Given the description of an element on the screen output the (x, y) to click on. 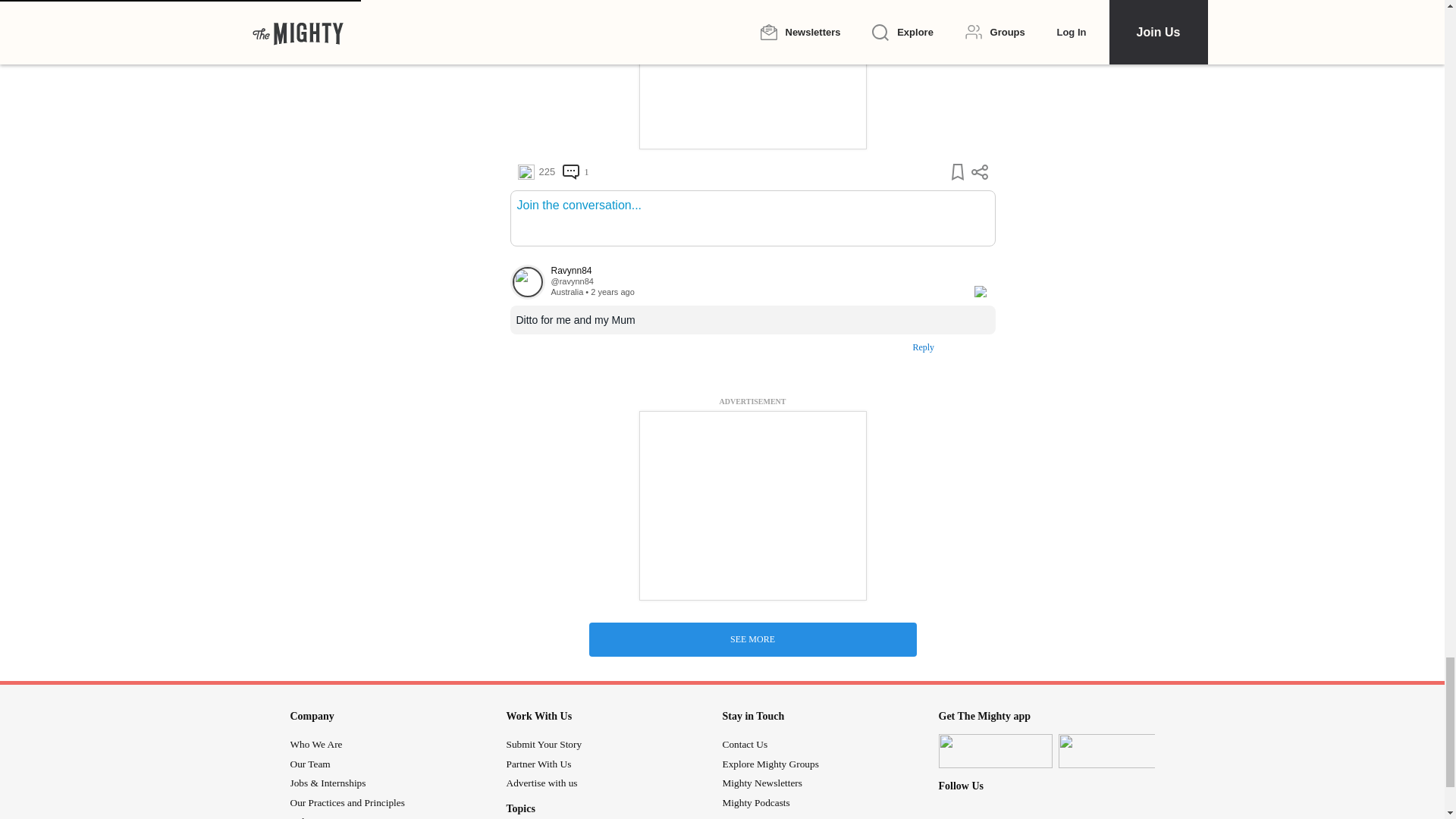
225 (535, 171)
View their profile (754, 271)
View their profile (571, 280)
View their profile (526, 280)
